Given the description of an element on the screen output the (x, y) to click on. 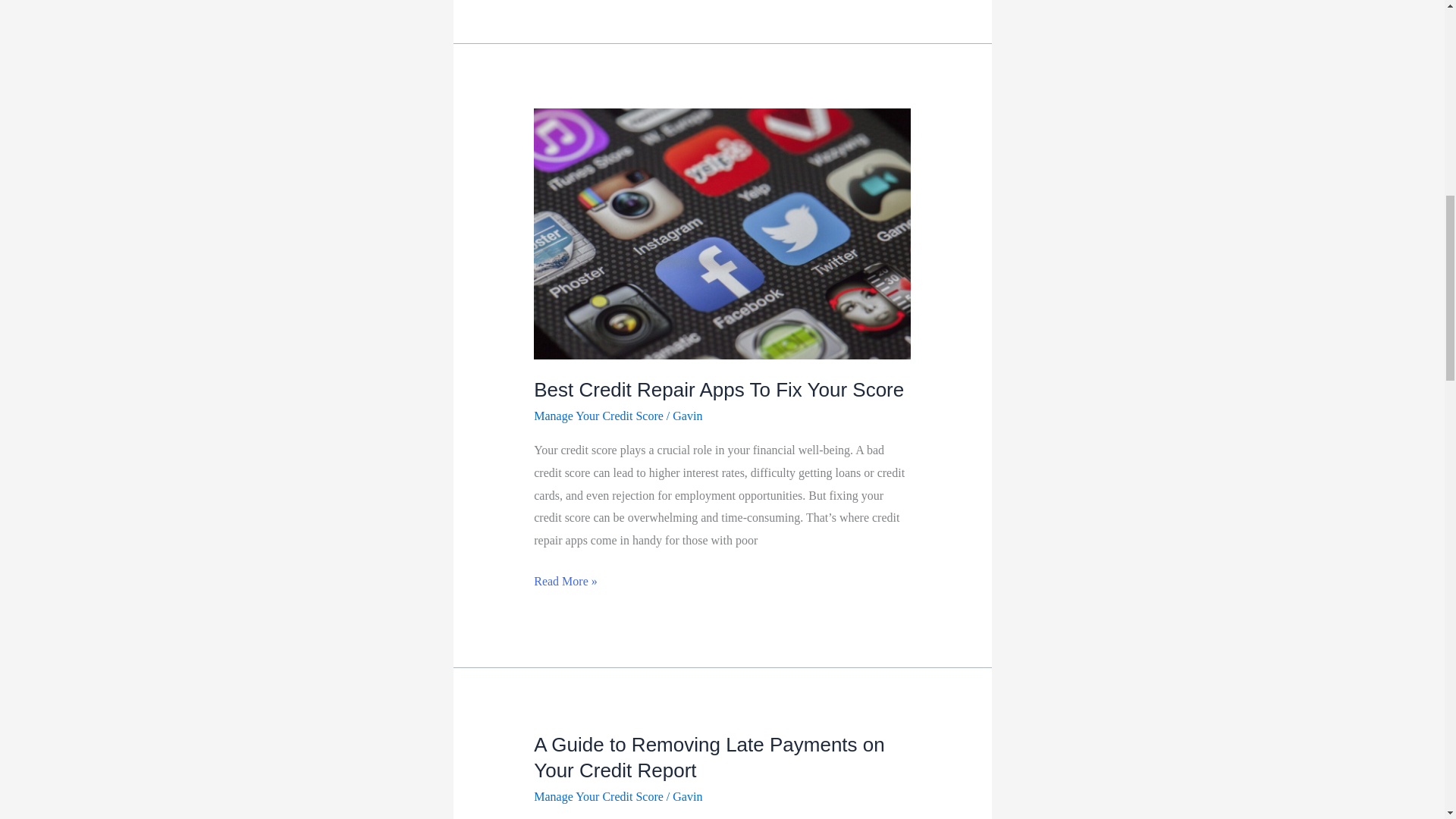
Gavin (686, 796)
View all posts by Gavin (686, 415)
Manage Your Credit Score (598, 796)
View all posts by Gavin (686, 796)
Best Credit Repair Apps To Fix Your Score (719, 389)
A Guide to Removing Late Payments on Your Credit Report (709, 757)
Manage Your Credit Score (598, 415)
Gavin (686, 415)
